Given the description of an element on the screen output the (x, y) to click on. 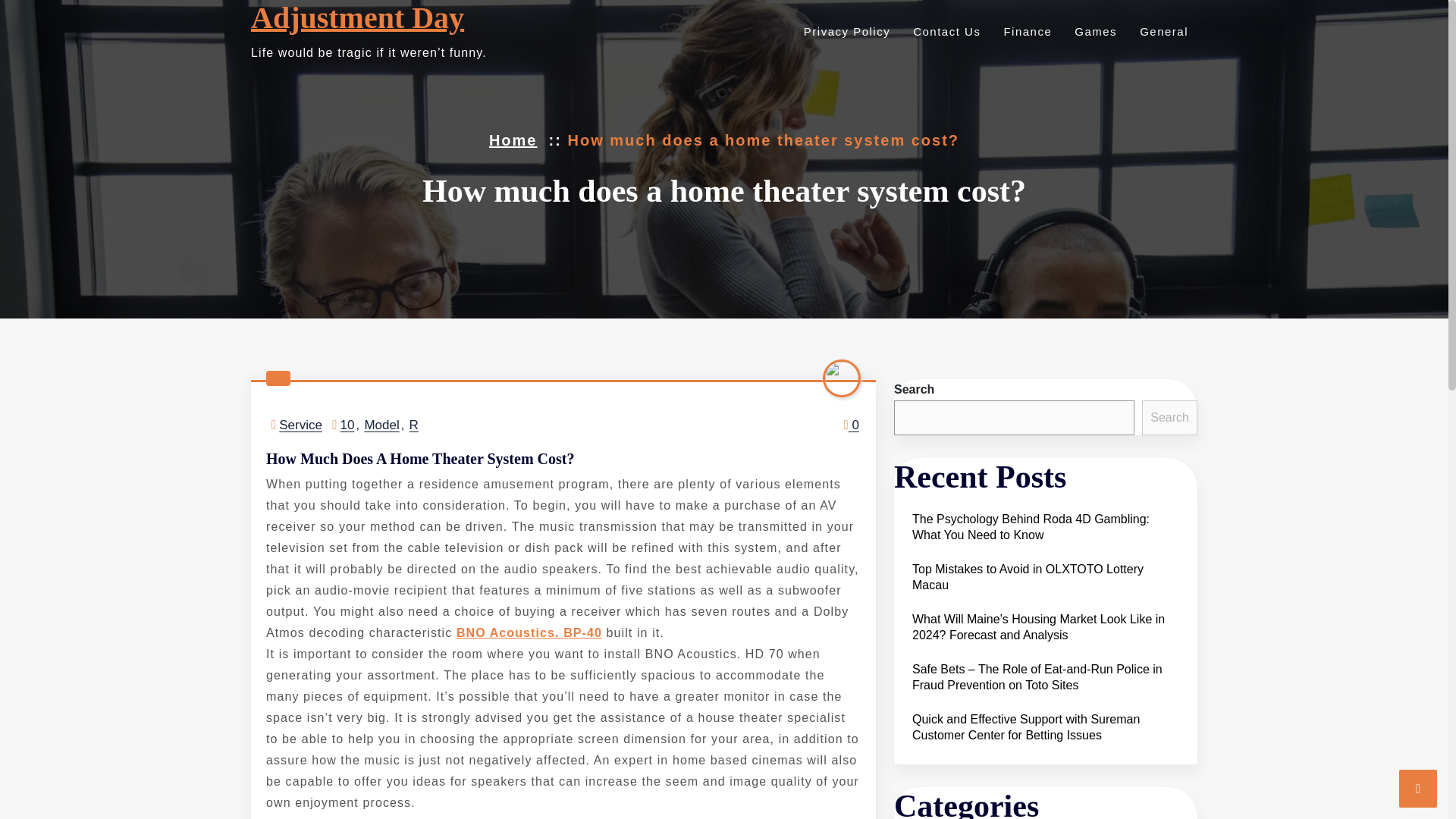
Search (1168, 417)
Privacy Policy (844, 31)
Finance (1024, 31)
Games (1093, 31)
Games (1093, 31)
General (1161, 31)
Contact Us (944, 31)
General (1161, 31)
Finance (1024, 31)
